Given the description of an element on the screen output the (x, y) to click on. 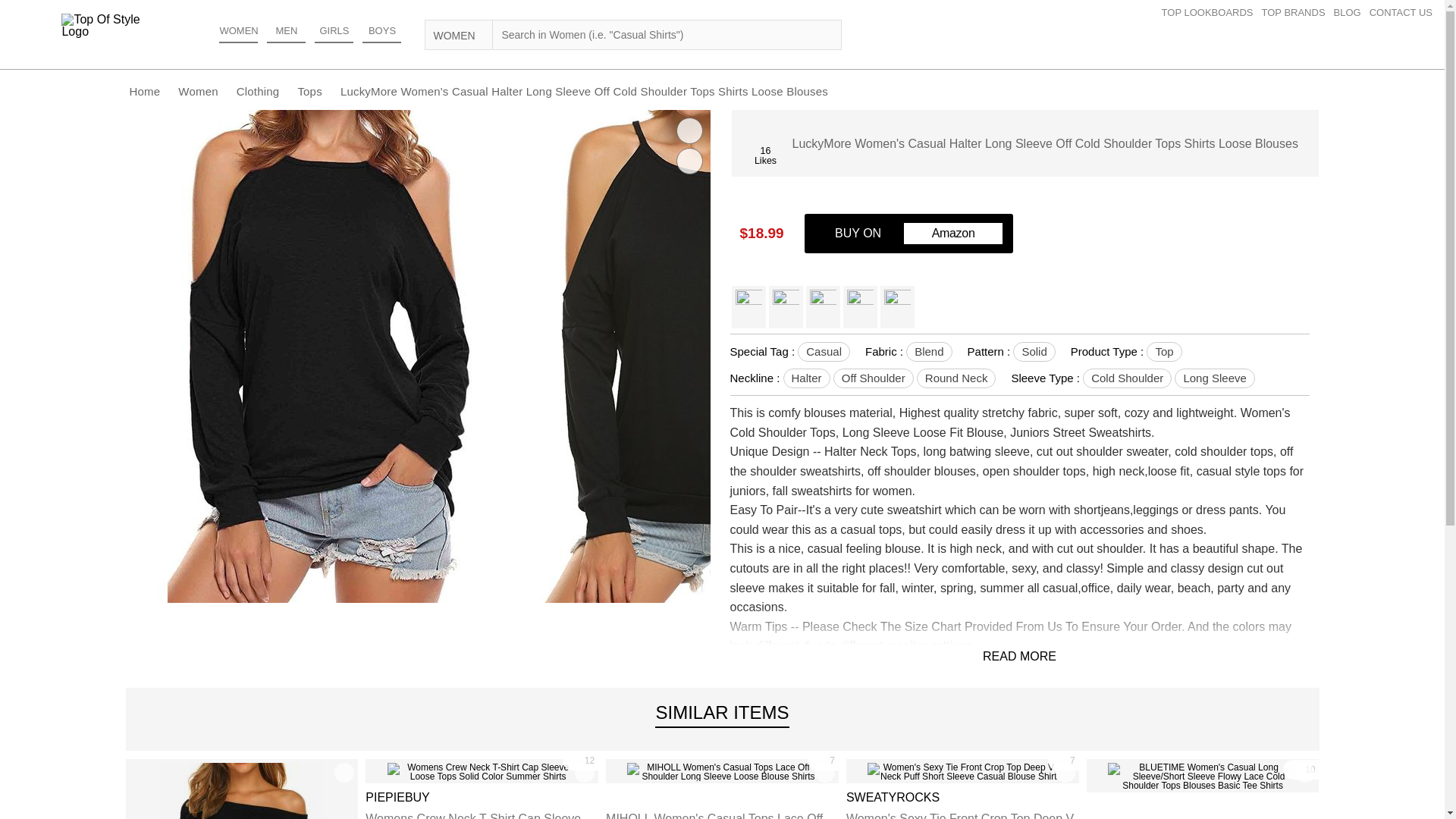
Top (1163, 351)
TOP BRANDS (1297, 12)
12 (580, 760)
Casual (823, 351)
Women (197, 91)
Round Neck (956, 378)
Top Of Style (106, 25)
BLOG (1351, 12)
Halter (806, 378)
CONTACT US (1405, 12)
Tops (309, 91)
Long Sleeve (1213, 378)
Off Shoulder (873, 378)
TOP LOOKBOARDS (1211, 12)
